Given the description of an element on the screen output the (x, y) to click on. 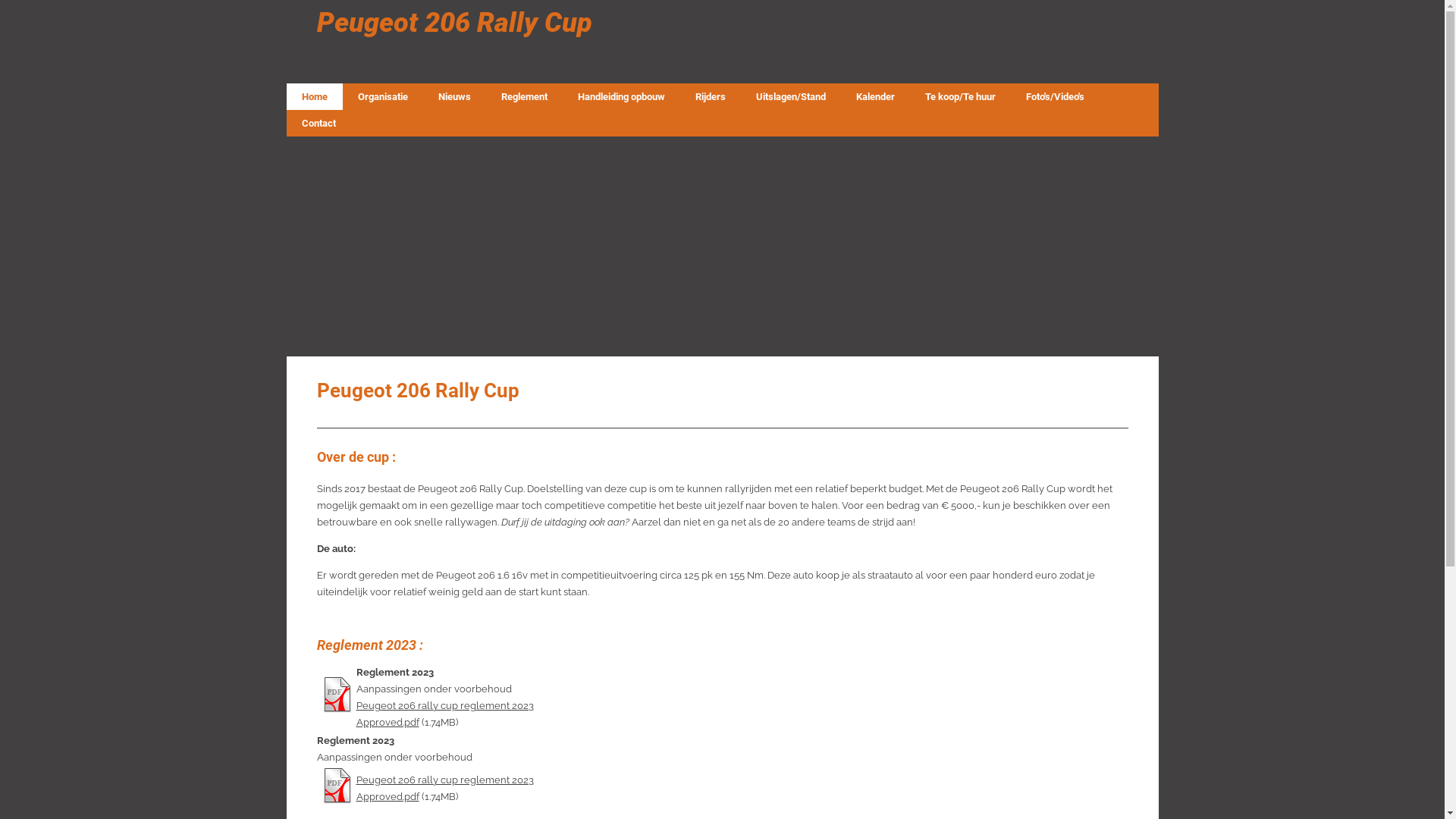
Organisatie Element type: text (382, 96)
Home Element type: text (314, 96)
Rijders Element type: text (709, 96)
Peugeot 206 rally cup reglement 2023 Approved.pdf Element type: text (444, 788)
Reglement Element type: text (523, 96)
Handleiding opbouw Element type: text (621, 96)
Peugeot 206 rally cup reglement 2023 Approved.pdf Element type: text (444, 713)
Nieuws Element type: text (454, 96)
Foto's/Video's Element type: text (1054, 96)
Contact Element type: text (318, 122)
Te koop/Te huur Element type: text (960, 96)
Kalender Element type: text (874, 96)
Uitslagen/Stand Element type: text (790, 96)
